Given the description of an element on the screen output the (x, y) to click on. 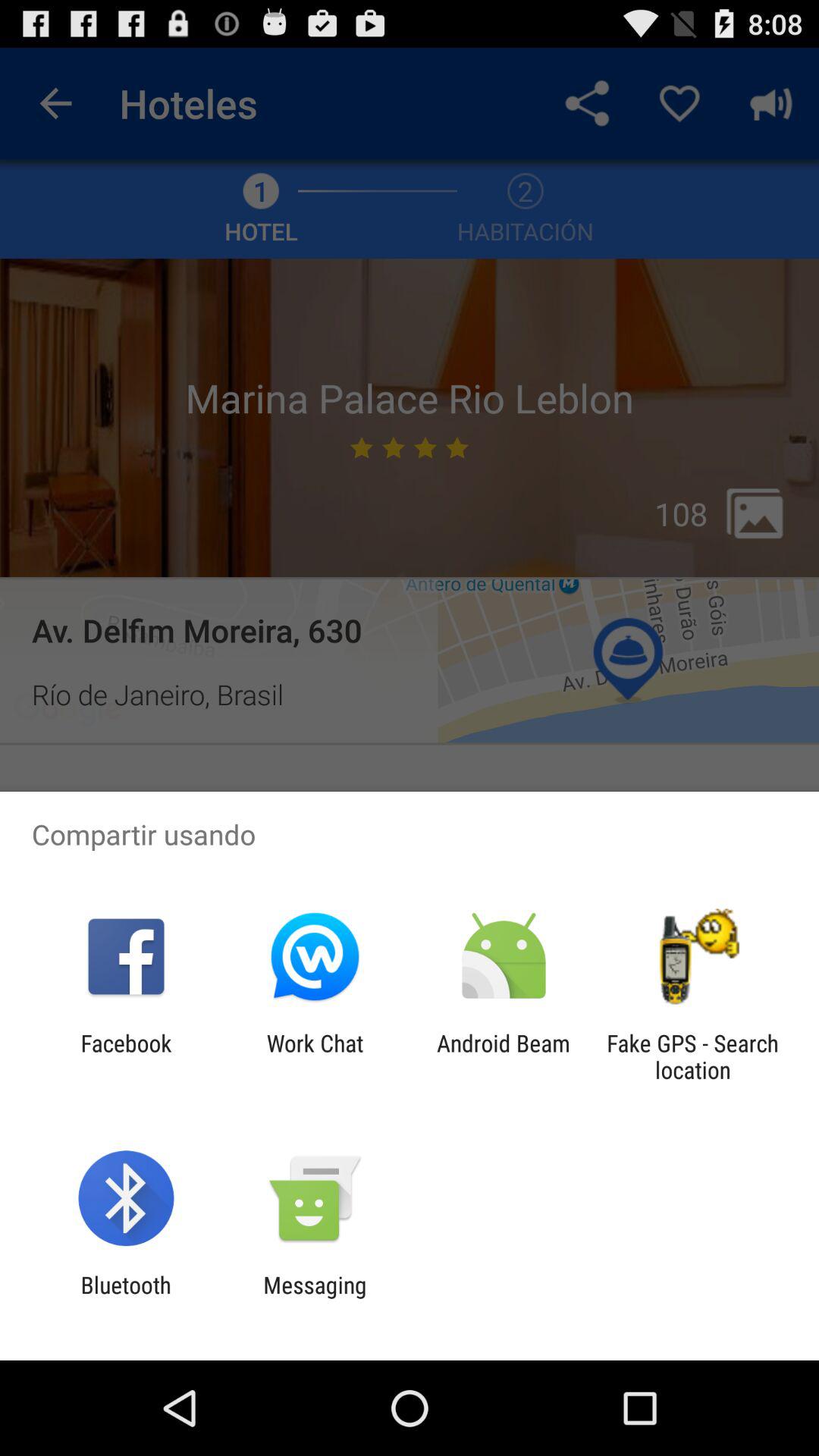
click the icon next to the work chat item (503, 1056)
